Given the description of an element on the screen output the (x, y) to click on. 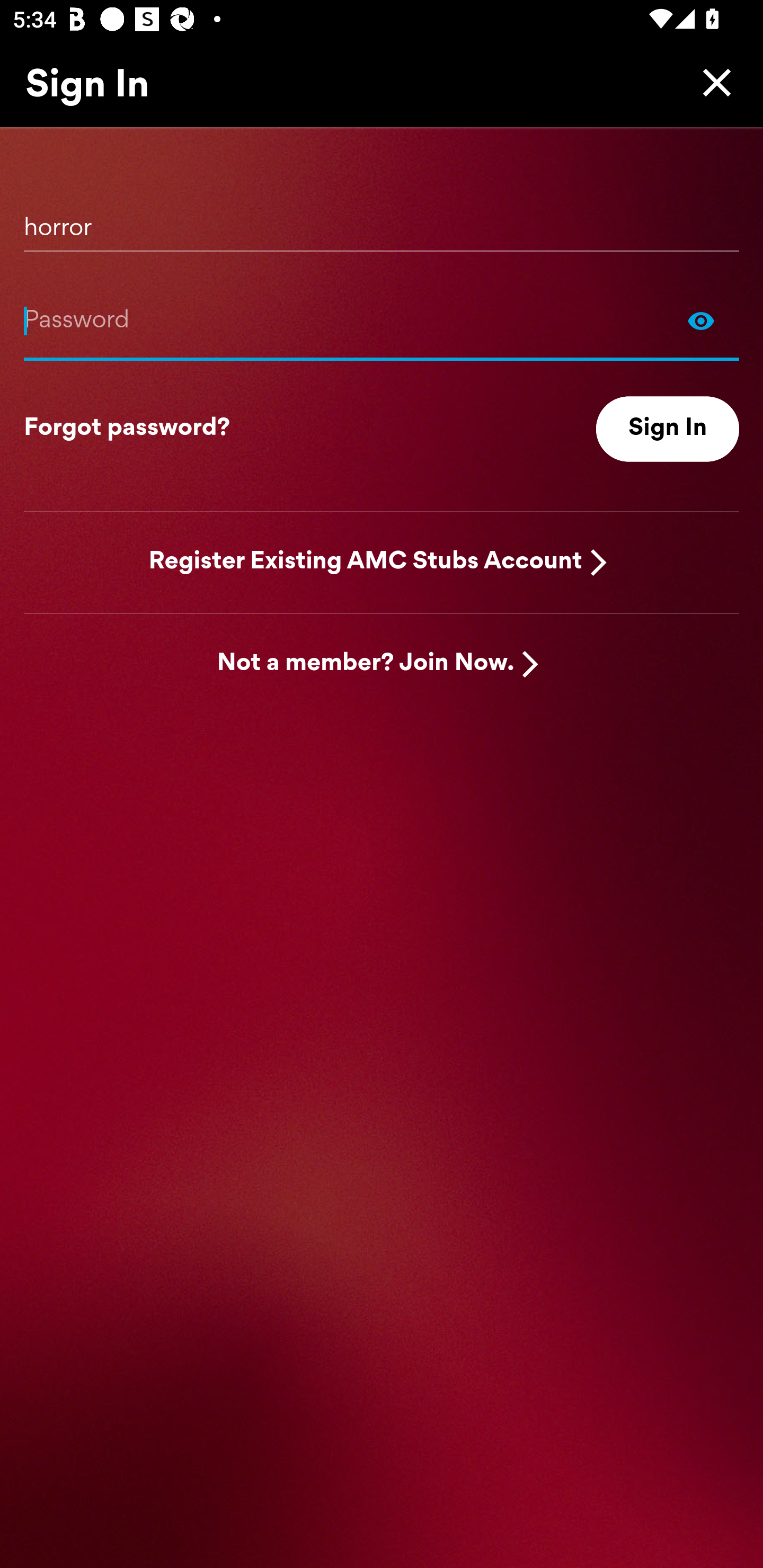
Close (712, 82)
horror (381, 220)
Show Password (381, 320)
Show Password (701, 320)
Forgot password? (126, 428)
Sign In (667, 428)
Register Existing AMC Stubs Account (365, 561)
Not a member? Join Now. (365, 663)
